Given the description of an element on the screen output the (x, y) to click on. 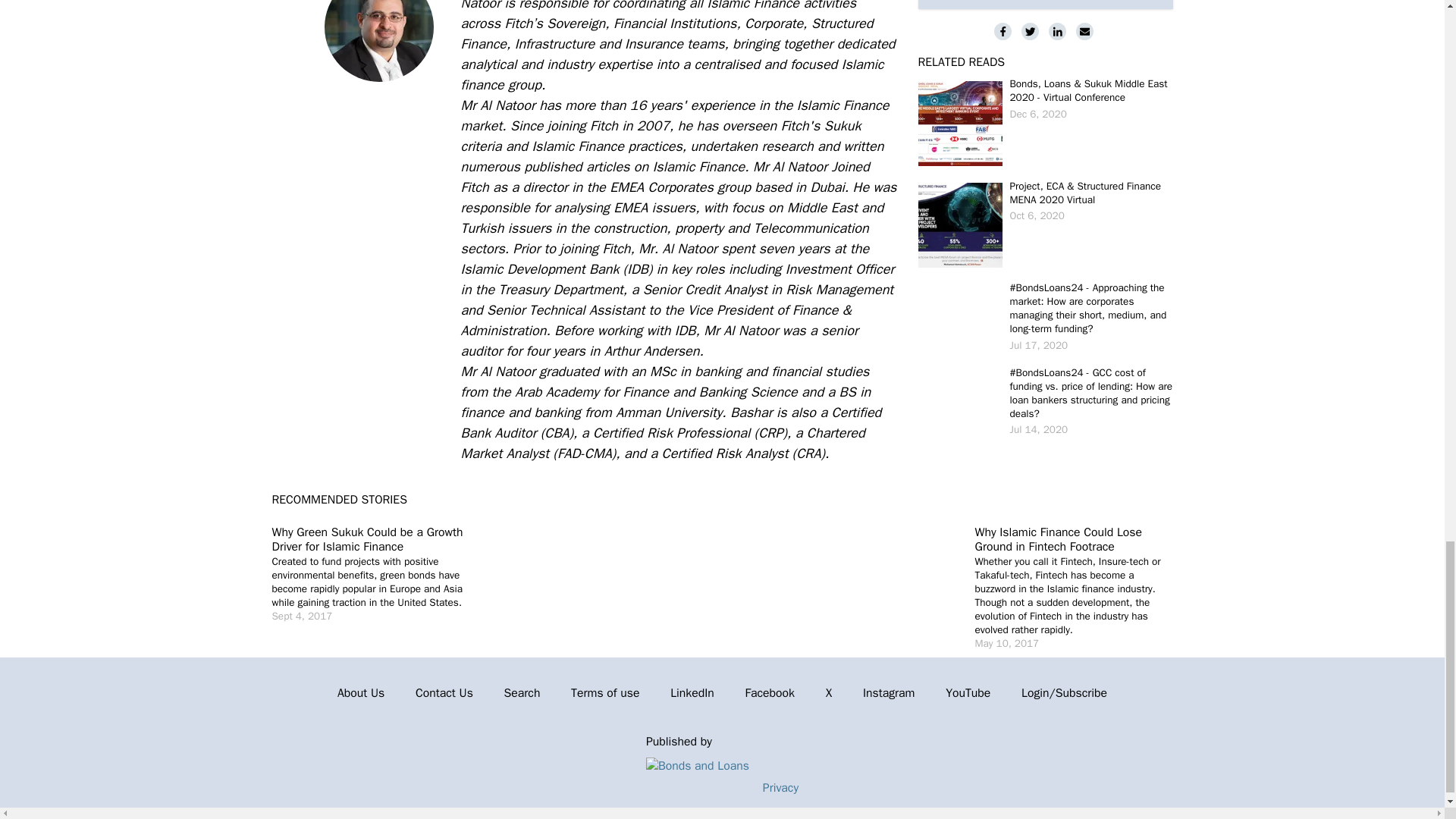
Why Green Sukuk Could be a Growth Driver for Islamic Finance (366, 539)
Why Islamic Finance Could Lose Ground in Fintech Footrace (1058, 539)
About Us (360, 693)
